Given the description of an element on the screen output the (x, y) to click on. 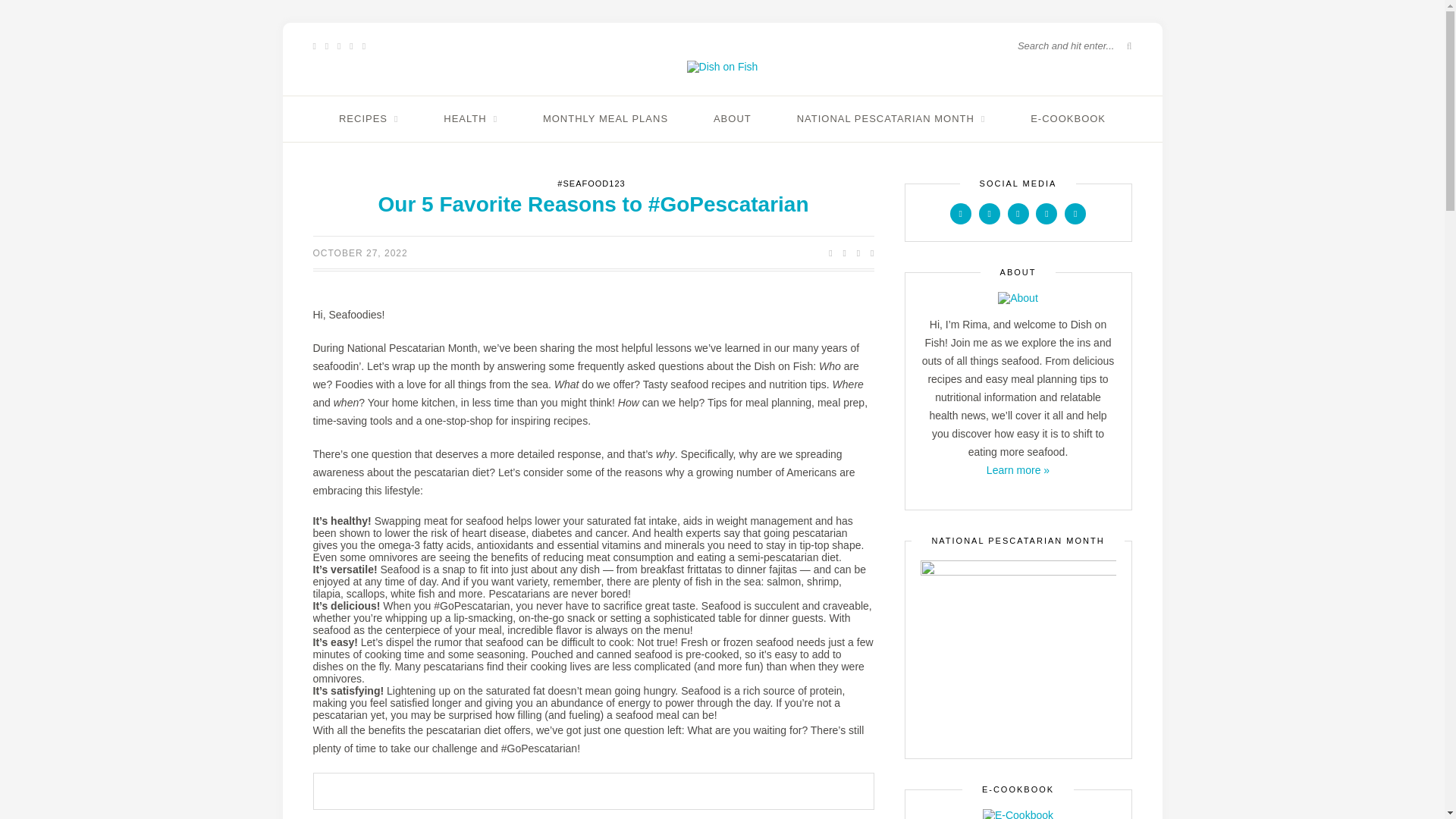
ABOUT (732, 118)
NATIONAL PESCATARIAN MONTH (890, 118)
HEALTH (470, 118)
OCTOBER 27, 2022 (360, 253)
MONTHLY MEAL PLANS (605, 118)
RECIPES (368, 118)
E-COOKBOOK (1067, 118)
